Given the description of an element on the screen output the (x, y) to click on. 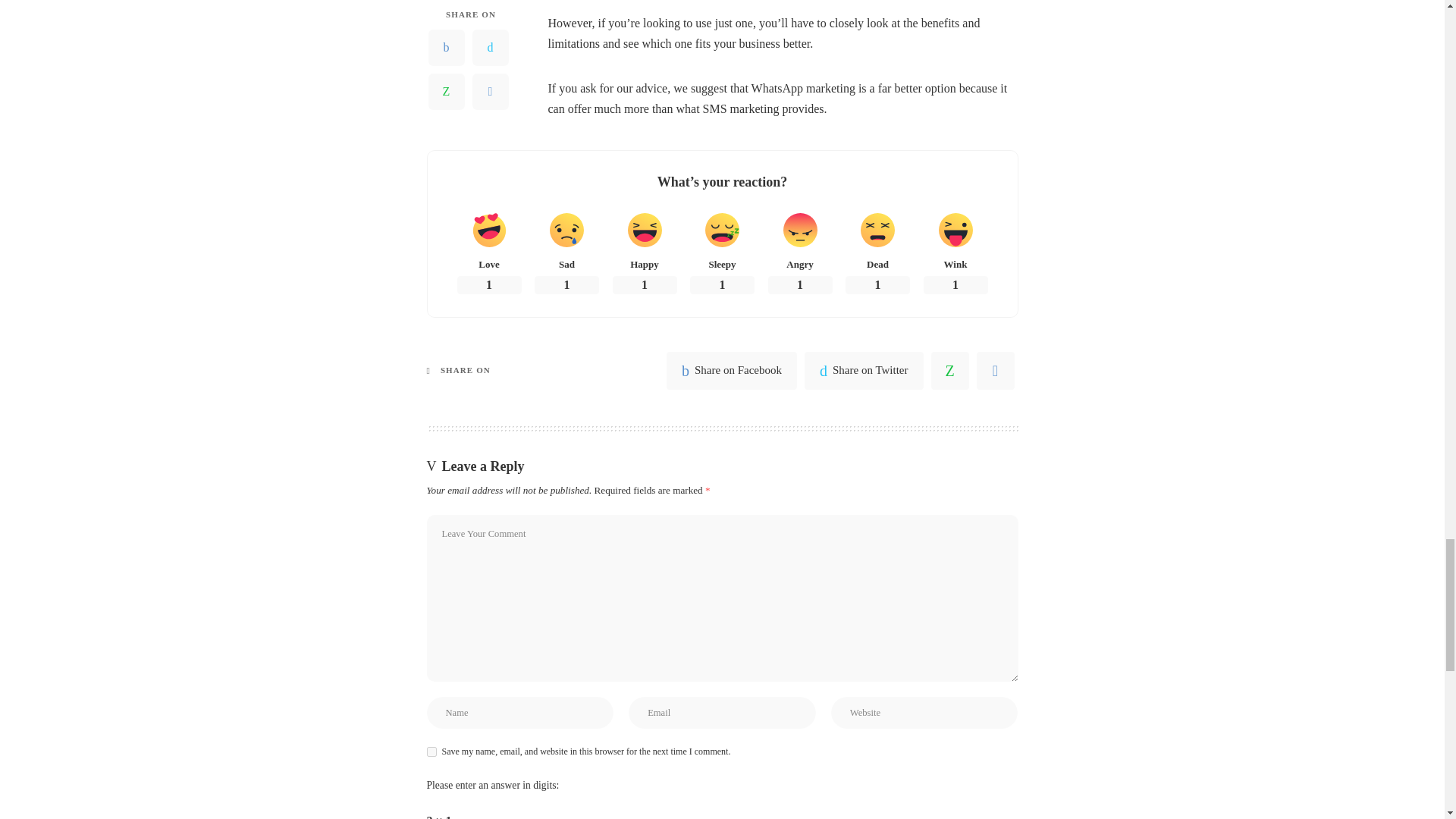
yes (430, 751)
